Given the description of an element on the screen output the (x, y) to click on. 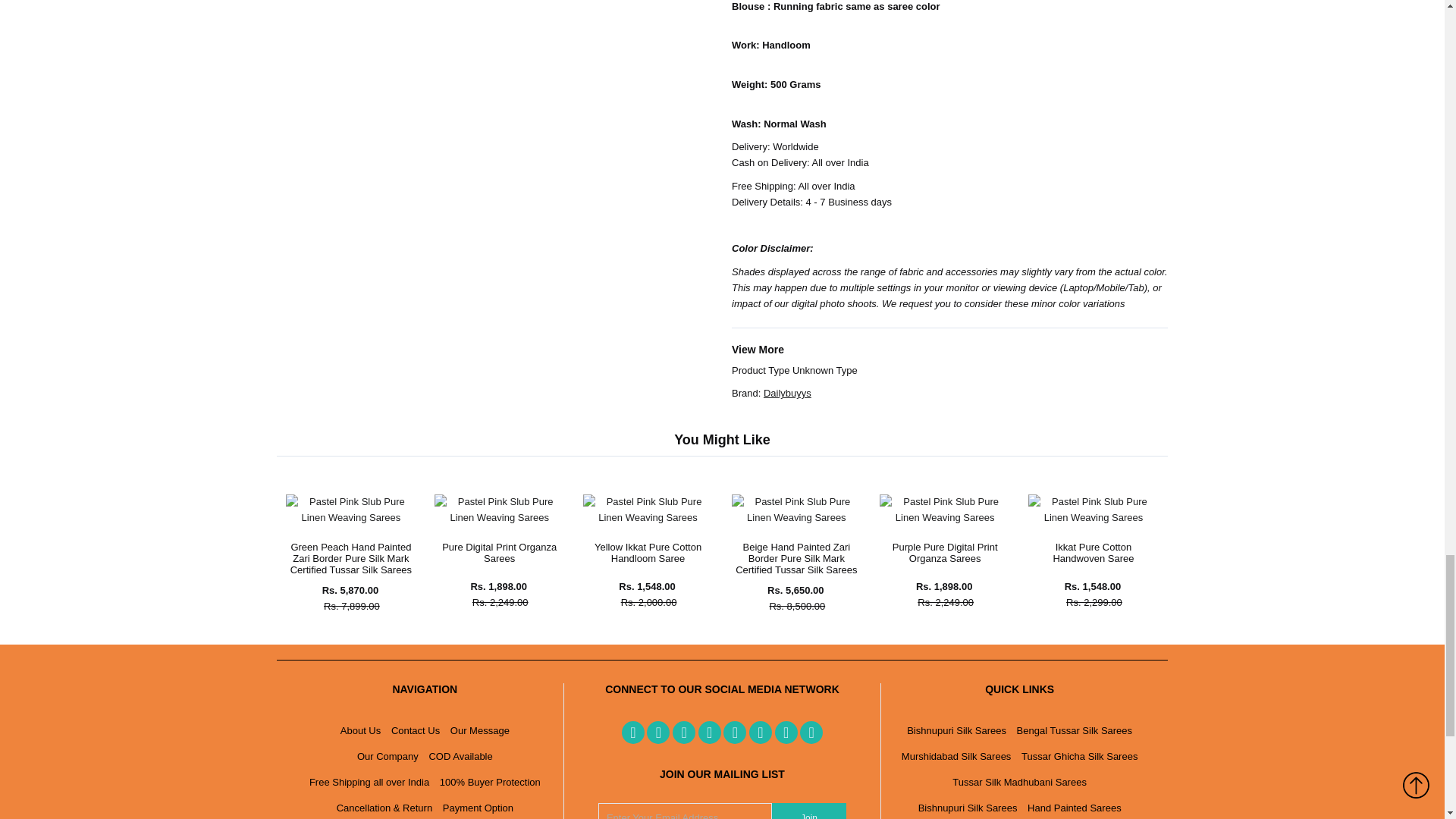
Pure Digital Print Organza Sarees (498, 517)
Dailybuyys (786, 392)
Join (808, 811)
Ikkat Pure Cotton Handwoven Saree (1092, 517)
Yellow Ikkat Pure Cotton Handloom Saree (648, 517)
Purple Pure Digital Print Organza Sarees (944, 517)
